Given the description of an element on the screen output the (x, y) to click on. 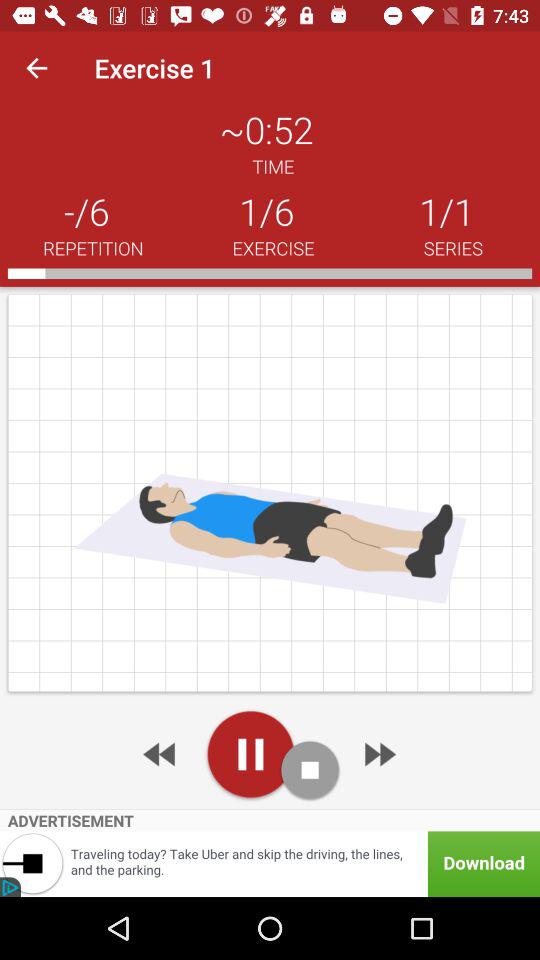
open an advertisement (270, 864)
